Given the description of an element on the screen output the (x, y) to click on. 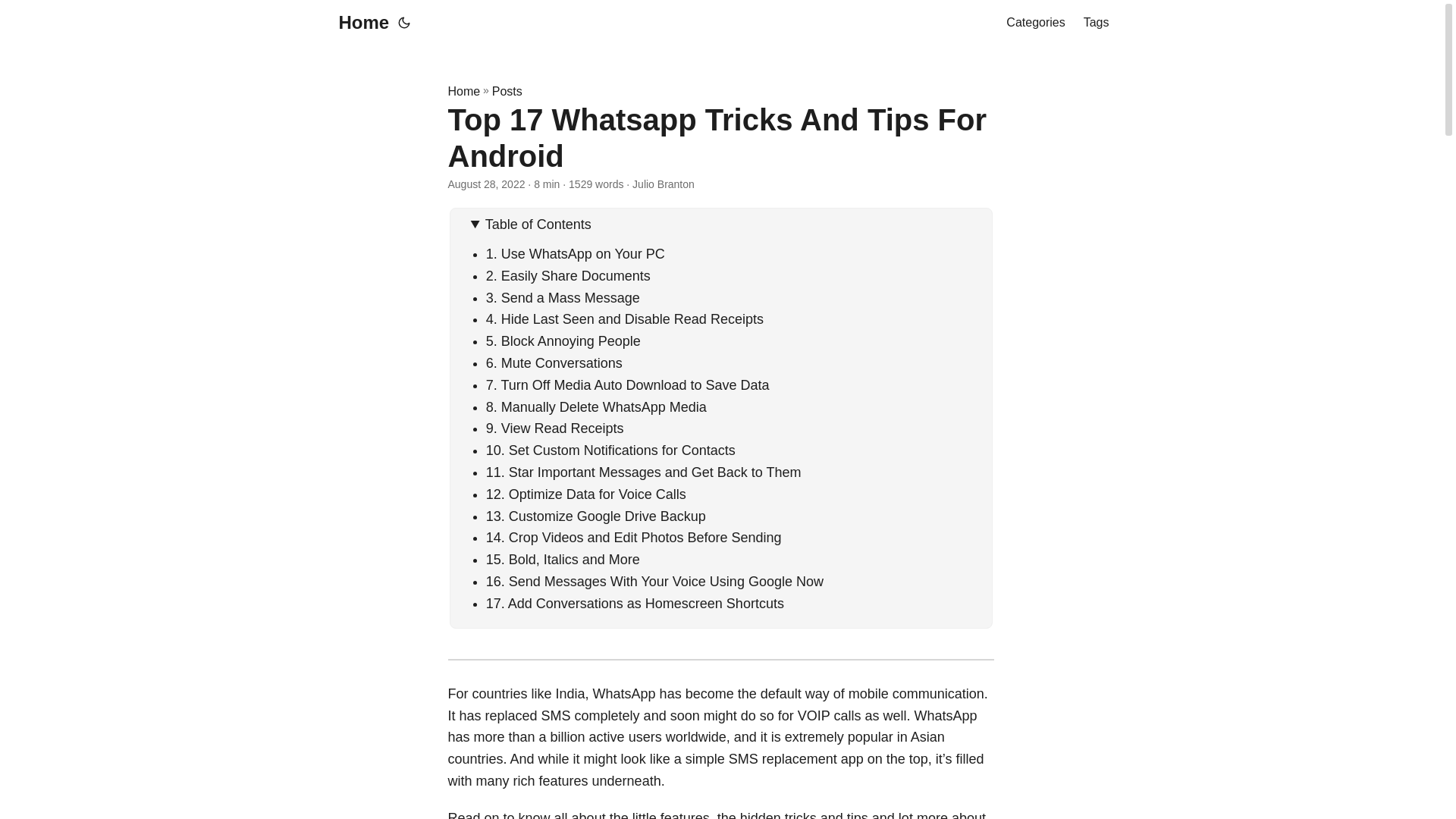
17. Add Conversations as Homescreen Shortcuts (635, 603)
4. Hide Last Seen and Disable Read Receipts (624, 319)
3. Send a Mass Message (563, 297)
15. Bold, Italics and More (563, 559)
9. View Read Receipts (555, 427)
13. Customize Google Drive Backup (596, 516)
1. Use WhatsApp on Your PC (575, 253)
12. Optimize Data for Voice Calls (585, 494)
6. Mute Conversations (554, 363)
10. Set Custom Notifications for Contacts (610, 450)
Posts (507, 91)
8. Manually Delete WhatsApp Media (596, 406)
Categories (1035, 22)
Home (463, 91)
7. Turn Off Media Auto Download to Save Data (628, 385)
